Given the description of an element on the screen output the (x, y) to click on. 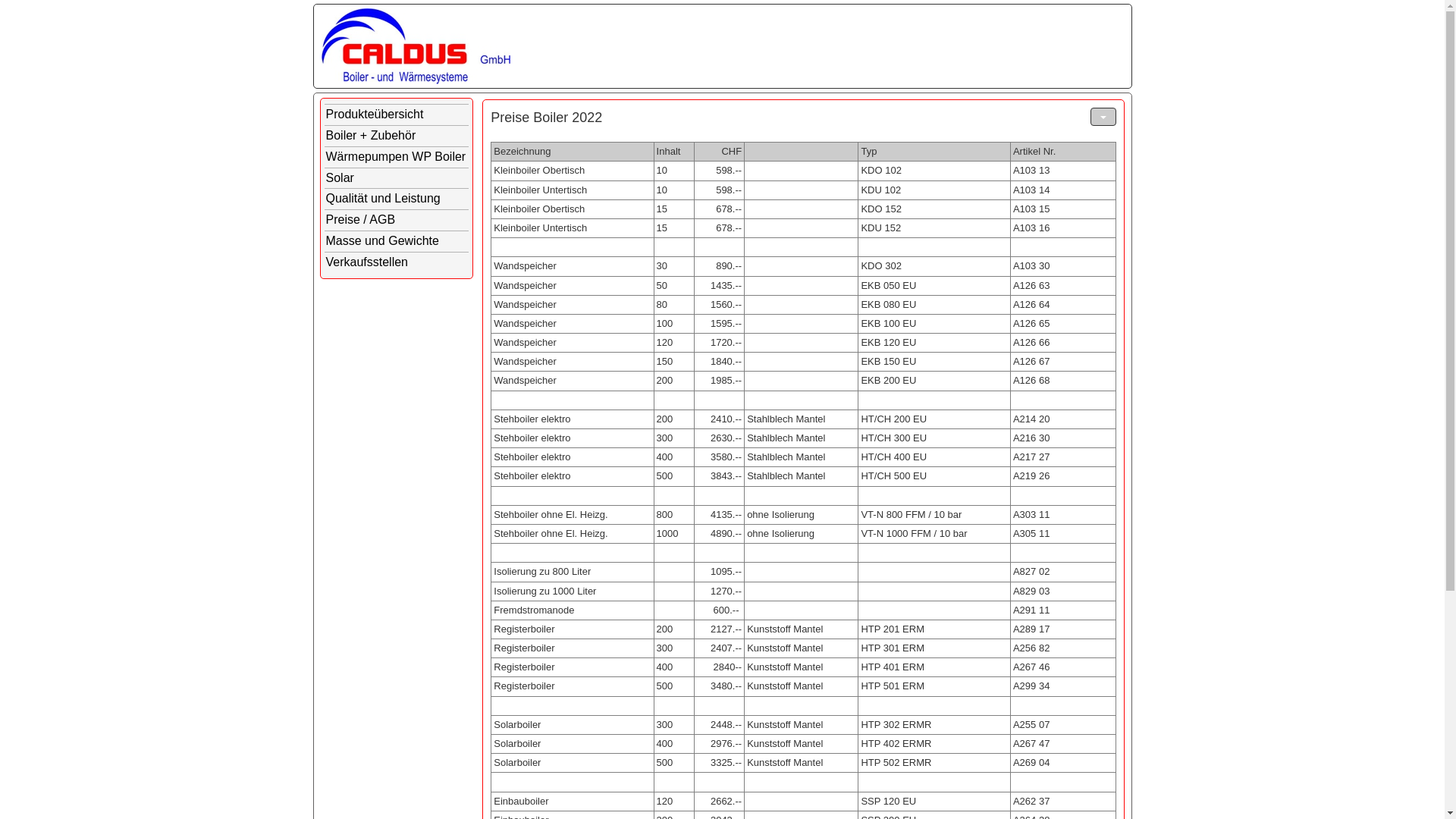
Masse und Gewichte Element type: text (396, 241)
Preise / AGB Element type: text (396, 220)
Solar Element type: text (396, 178)
Verkaufsstellen Element type: text (396, 262)
